Given the description of an element on the screen output the (x, y) to click on. 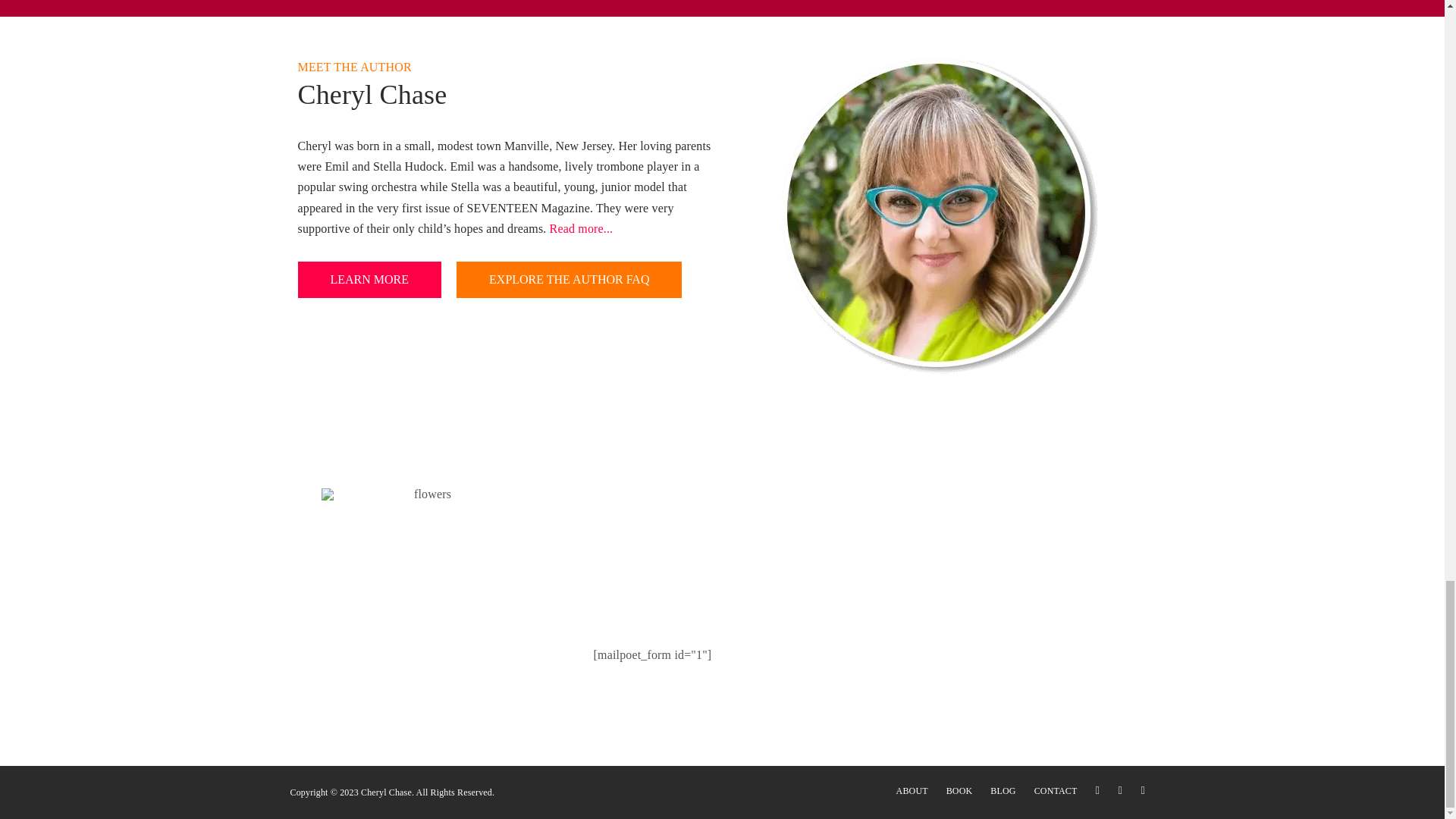
TWITTER (1097, 791)
EXPLORE THE AUTHOR FAQ (569, 279)
BLOG (1003, 790)
ABOUT (911, 790)
CONTACT (1055, 790)
FACEBOOK (1142, 791)
LEARN MORE (369, 279)
Read more... (581, 228)
BOOK (959, 790)
INSTAGRAM (1119, 791)
